Given the description of an element on the screen output the (x, y) to click on. 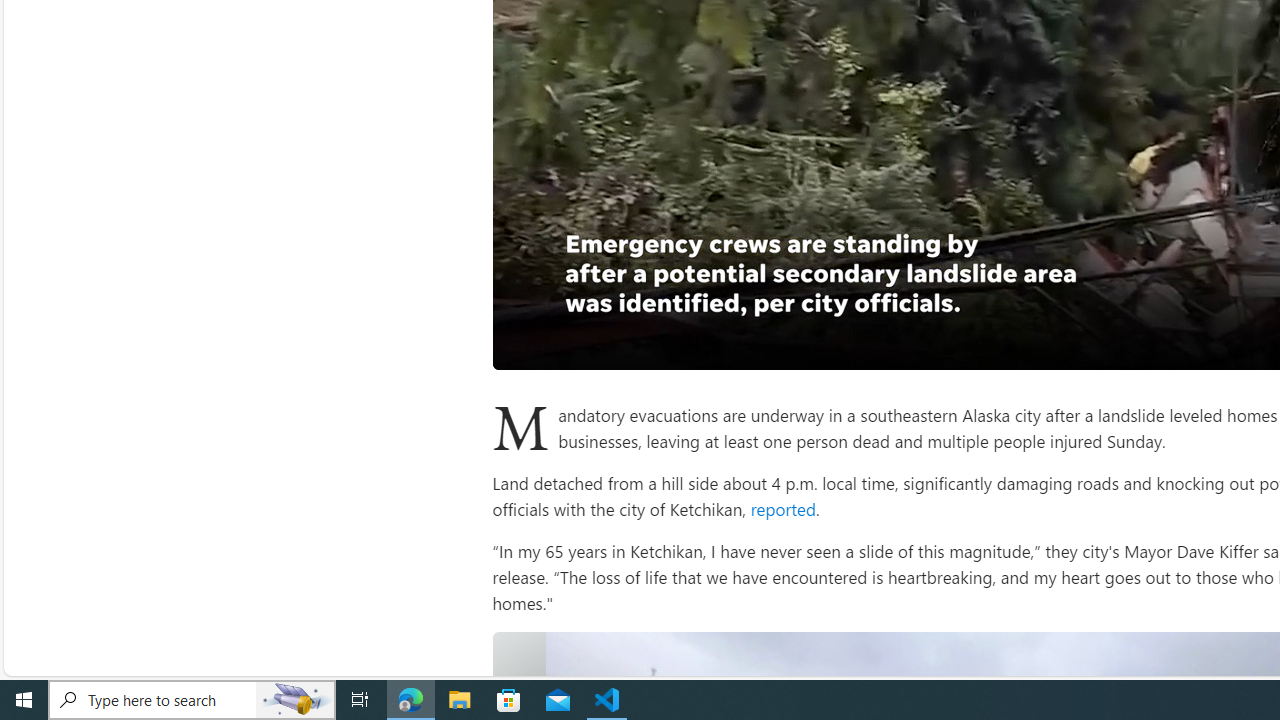
Pause (521, 347)
Captions (1257, 347)
Seek Back (561, 347)
 reported (781, 507)
Seek Forward (602, 347)
Quality Settings (1218, 347)
